Given the description of an element on the screen output the (x, y) to click on. 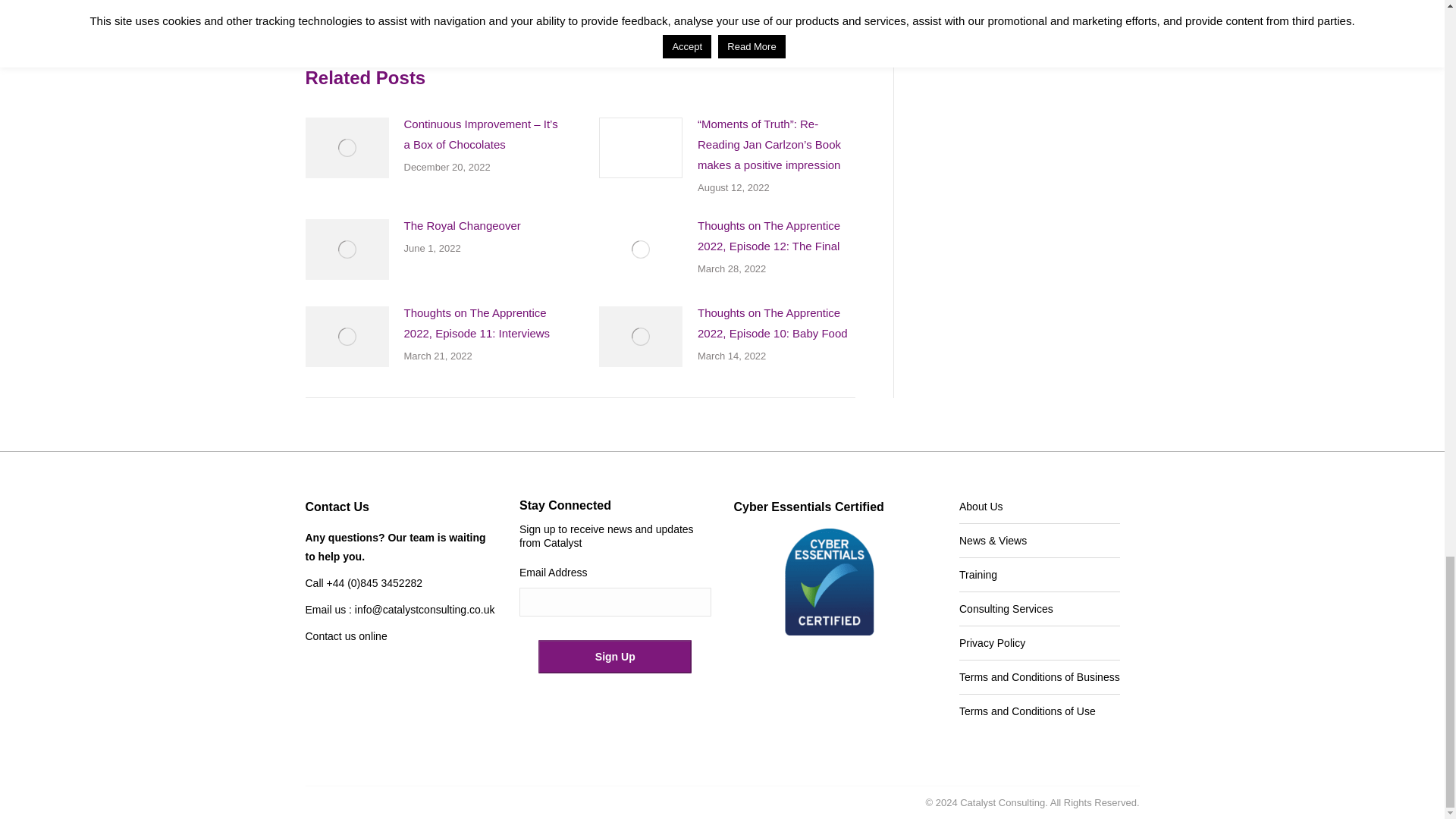
Sign Up (614, 656)
